Given the description of an element on the screen output the (x, y) to click on. 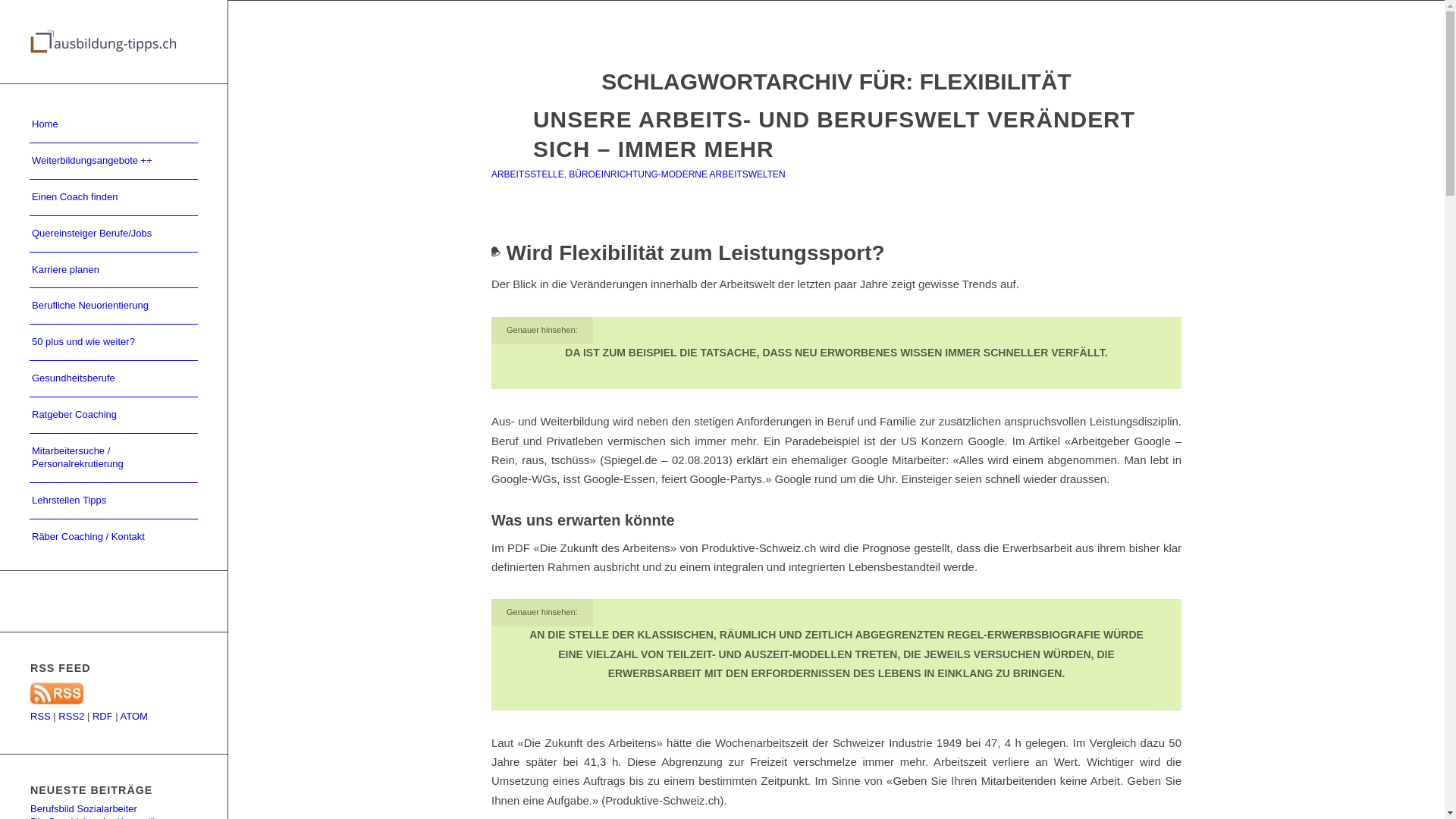
Home Element type: text (113, 124)
Quereinsteiger Berufe/Jobs Element type: text (113, 234)
Mitarbeitersuche / Personalrekrutierung Element type: text (113, 458)
RDF Element type: text (102, 715)
Einen Coach finden Element type: text (113, 197)
Berufliche Neuorientierung Element type: text (113, 306)
ATOM Element type: text (133, 715)
Karriere planen Element type: text (113, 270)
Ratgeber Coaching Element type: text (113, 415)
Lehrstellen Tipps Element type: text (113, 501)
Berufsbild Sozialarbeiter Element type: text (83, 808)
RSS2 Element type: text (71, 715)
Weiterbildungsangebote ++ Element type: text (113, 161)
Gesundheitsberufe Element type: text (113, 378)
ARBEITSSTELLE Element type: text (527, 174)
RSS Feed Element type: hover (56, 703)
RSS Element type: text (40, 715)
50 plus und wie weiter? Element type: text (113, 342)
